Given the description of an element on the screen output the (x, y) to click on. 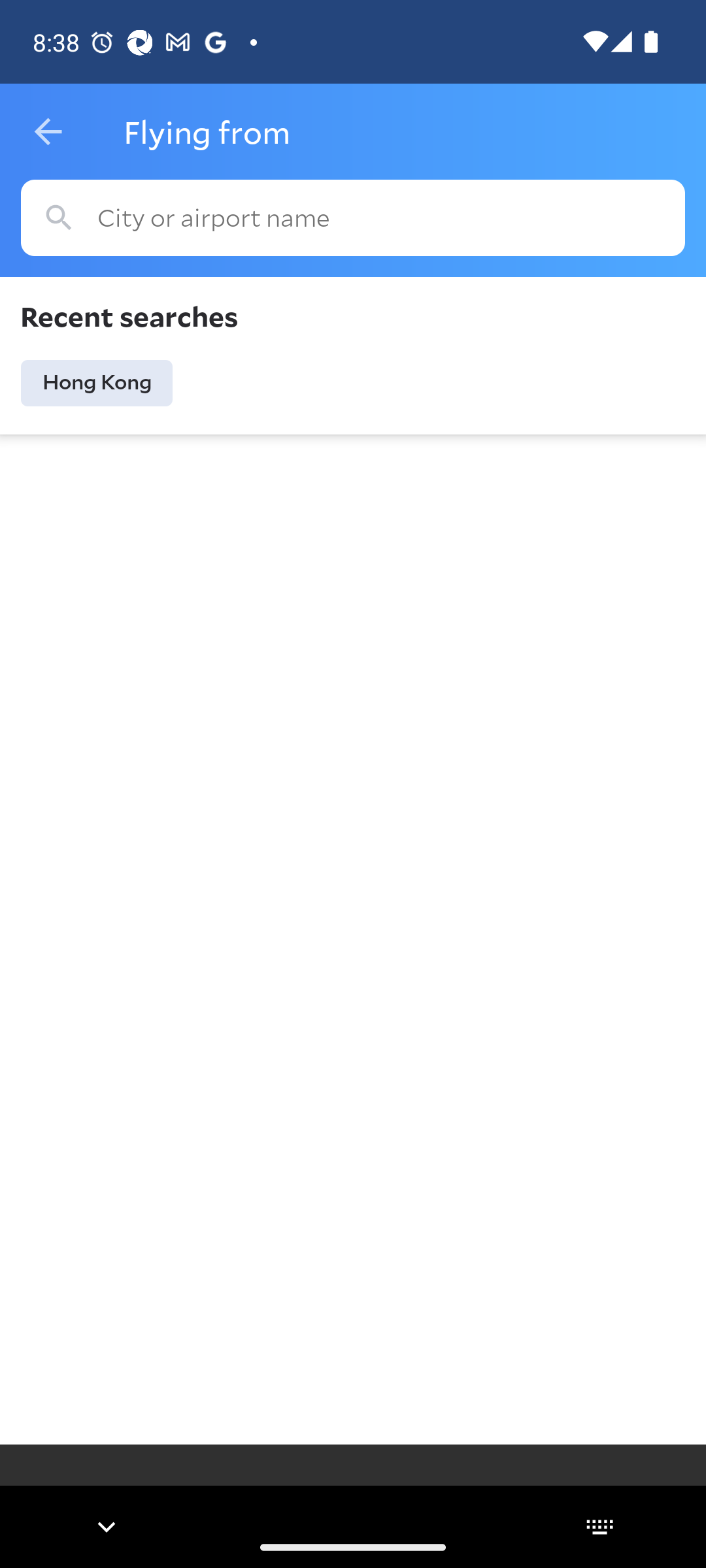
Navigate up (48, 131)
City or airport name (352, 217)
Hong Kong  Hong Kong (96, 383)
